Given the description of an element on the screen output the (x, y) to click on. 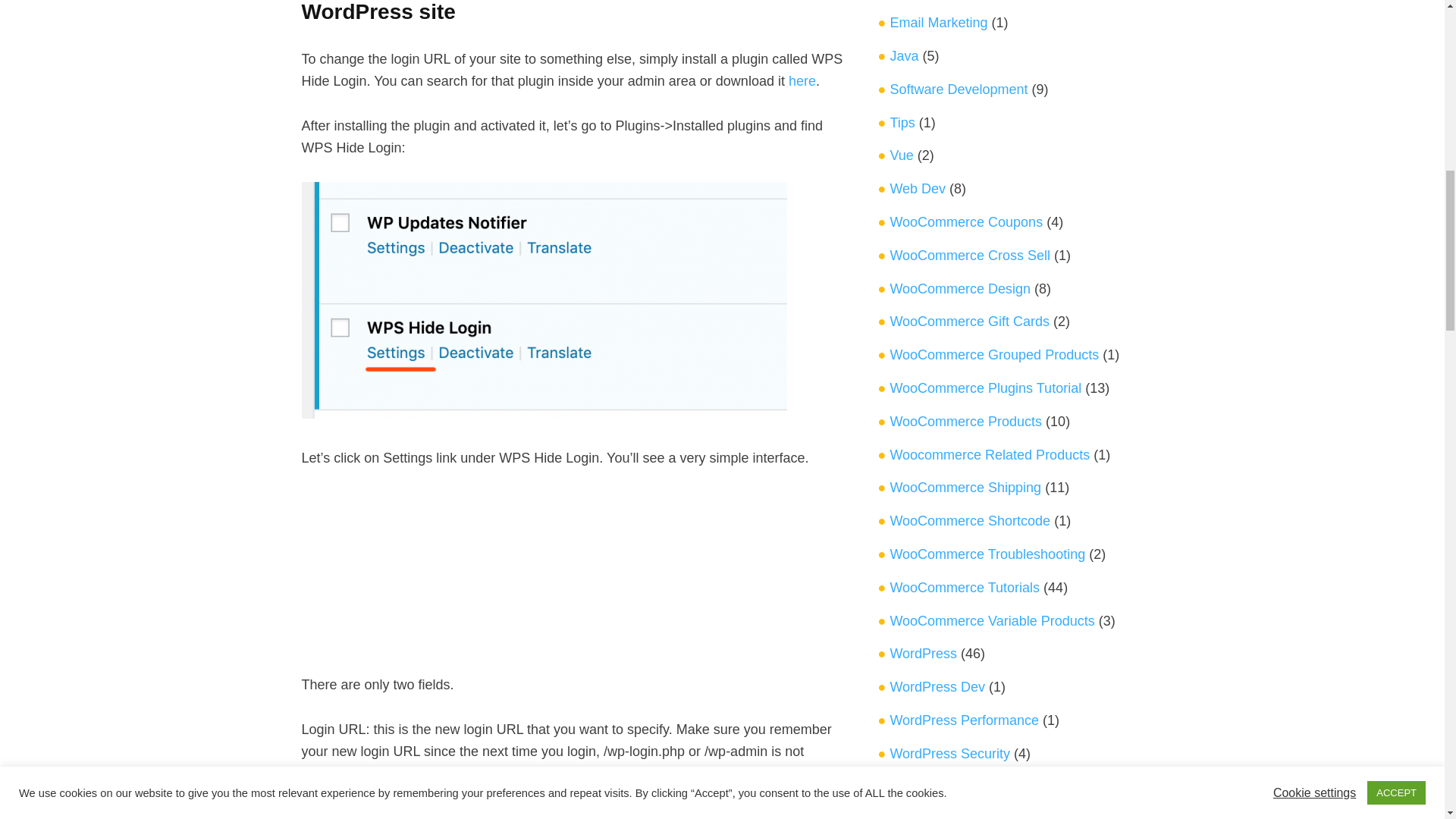
Java (903, 55)
here (802, 80)
Software Development (958, 89)
Email Marketing (938, 22)
Tips (901, 122)
